Given the description of an element on the screen output the (x, y) to click on. 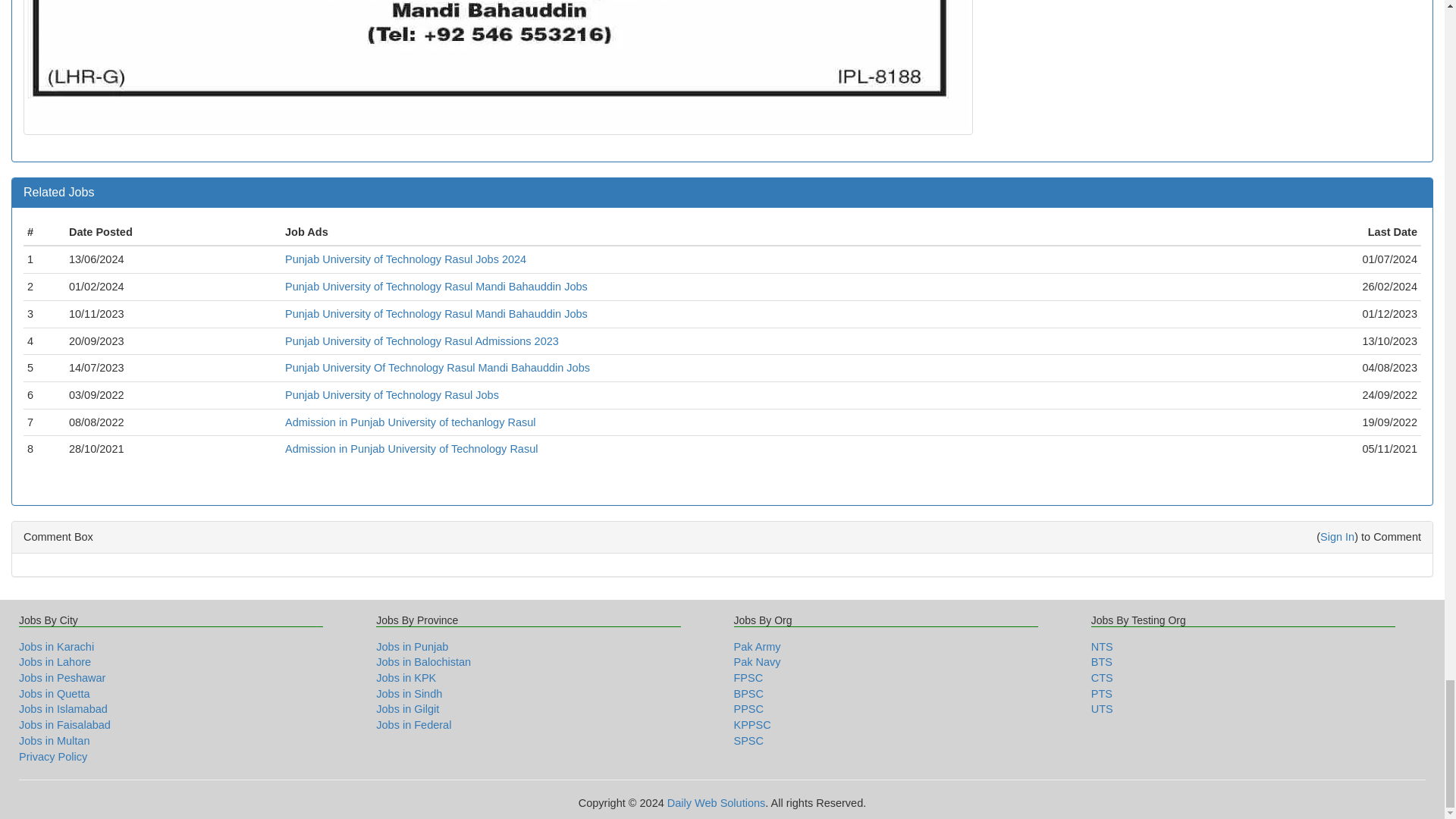
Punjab University of Technology Rasul Admissions 2023 (422, 340)
Punjab University of Technology Rasul Mandi Bahauddin Jobs (436, 286)
Punjab University of Technology Rasul Mandi Bahauddin Jobs (436, 313)
Punjab University Of Technology Rasul Mandi Bahauddin Jobs (437, 367)
Punjab University of Technology Rasul Jobs (392, 395)
Punjab University of Technology Rasul Jobs 2024 (405, 259)
Related Jobs (58, 192)
